Given the description of an element on the screen output the (x, y) to click on. 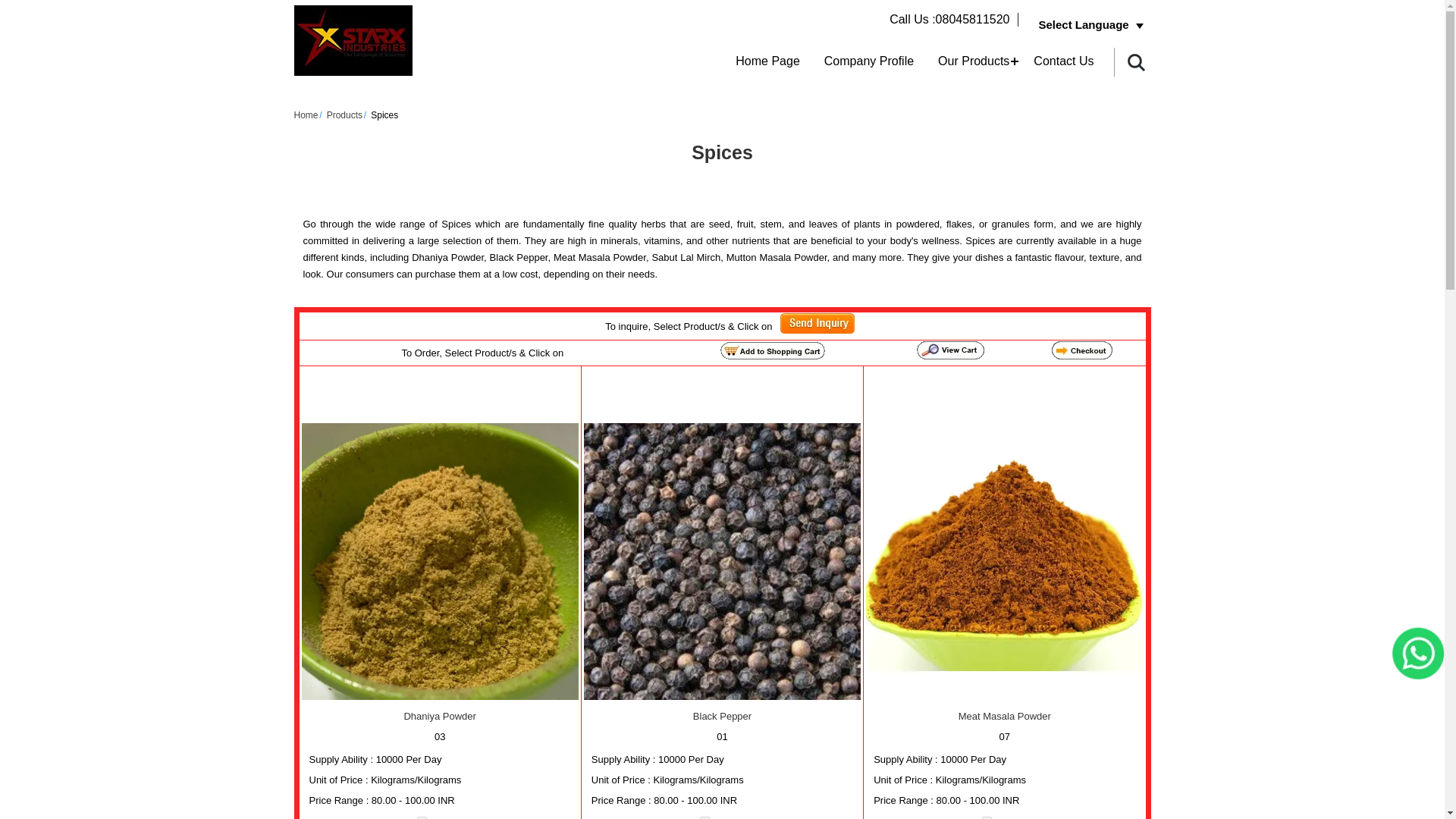
Black Pepper (721, 561)
Checkout (1081, 350)
Starx Industries Private Limited (353, 40)
Send Inquiry (817, 322)
Our Products (974, 61)
Select Language (1090, 24)
Company Profile (869, 61)
Dhaniya Powder (439, 561)
